Given the description of an element on the screen output the (x, y) to click on. 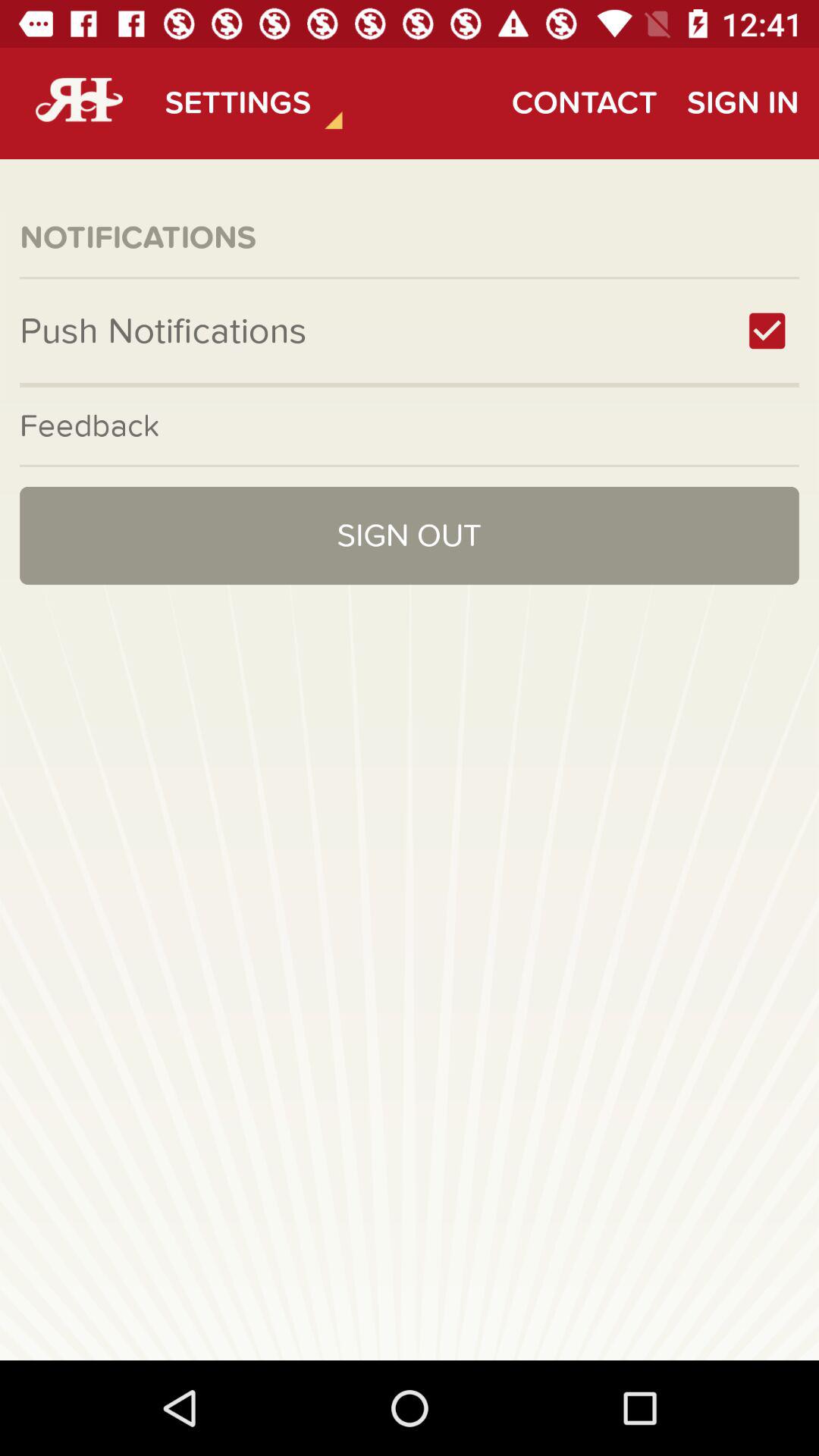
swipe to sign out icon (409, 535)
